Given the description of an element on the screen output the (x, y) to click on. 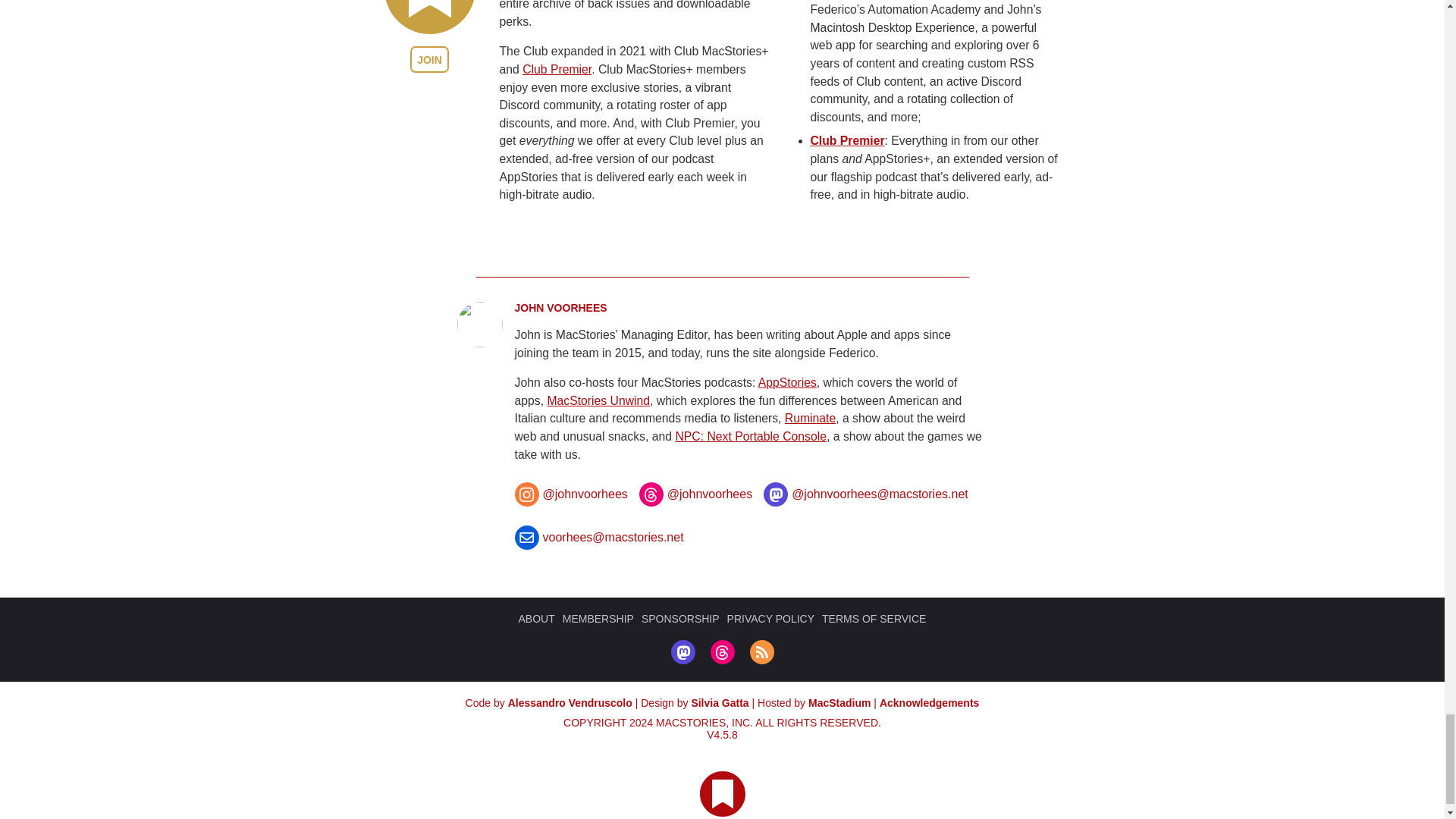
Posts by John Voorhees (560, 307)
